Given the description of an element on the screen output the (x, y) to click on. 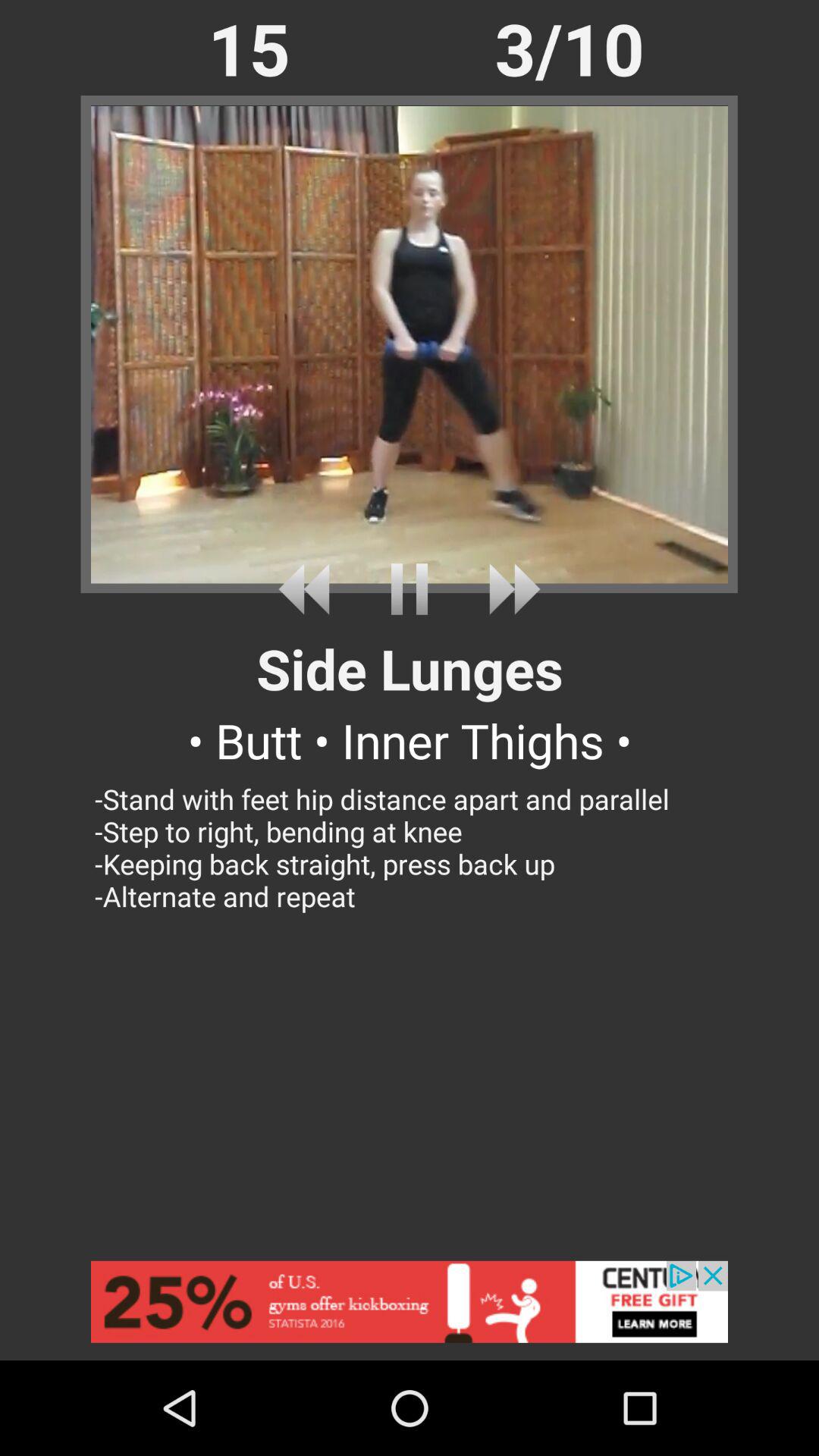
last workout (309, 589)
